Given the description of an element on the screen output the (x, y) to click on. 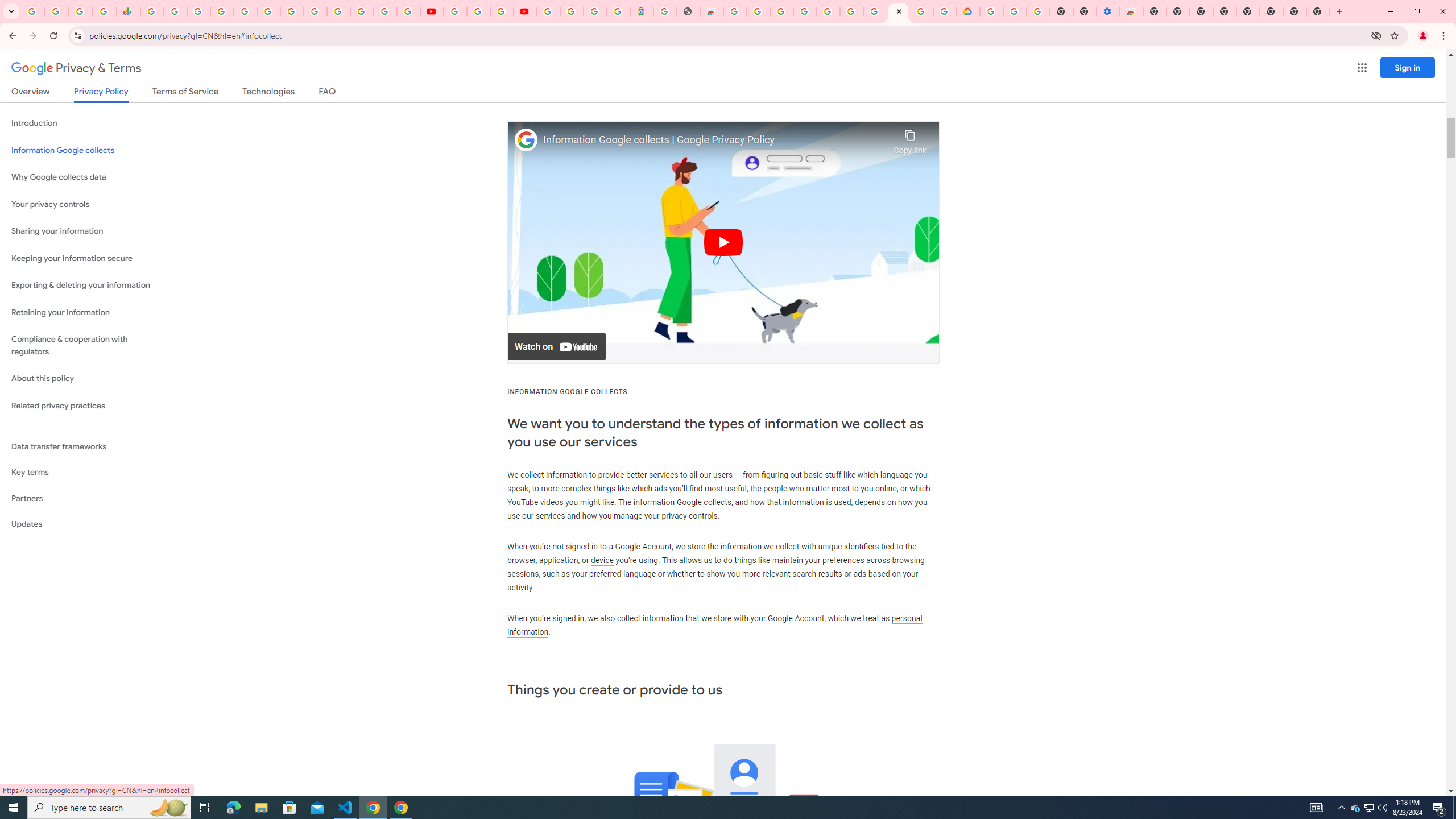
Compliance & cooperation with regulators (86, 345)
New Tab (1155, 11)
Sharing your information (86, 230)
Sign in - Google Accounts (221, 11)
